Given the description of an element on the screen output the (x, y) to click on. 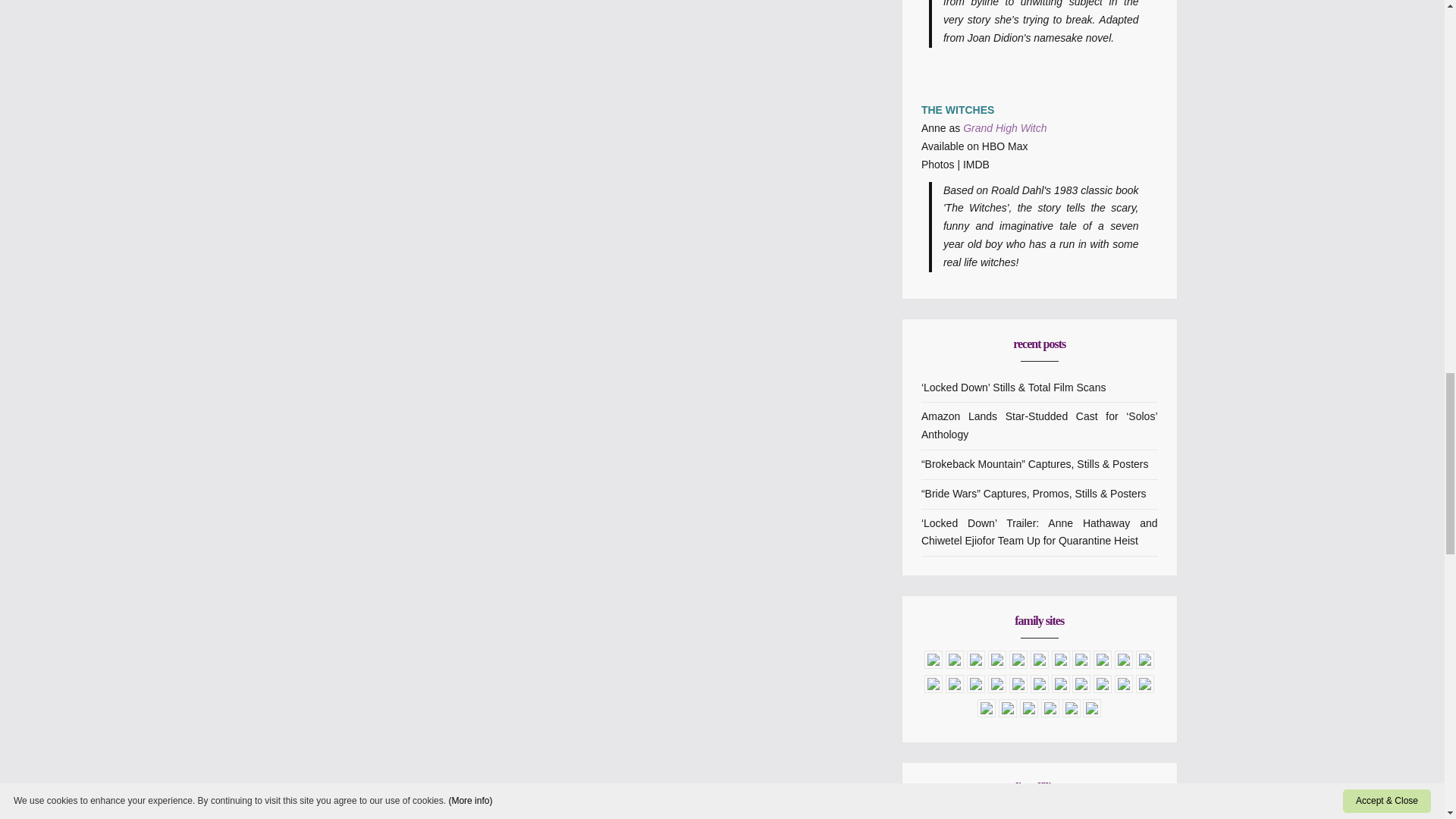
Aly Michalka Fan (953, 664)
AJ Michalka Fan (933, 664)
IMDB (976, 164)
Amy Acker Web (975, 664)
Photos (938, 164)
